Given the description of an element on the screen output the (x, y) to click on. 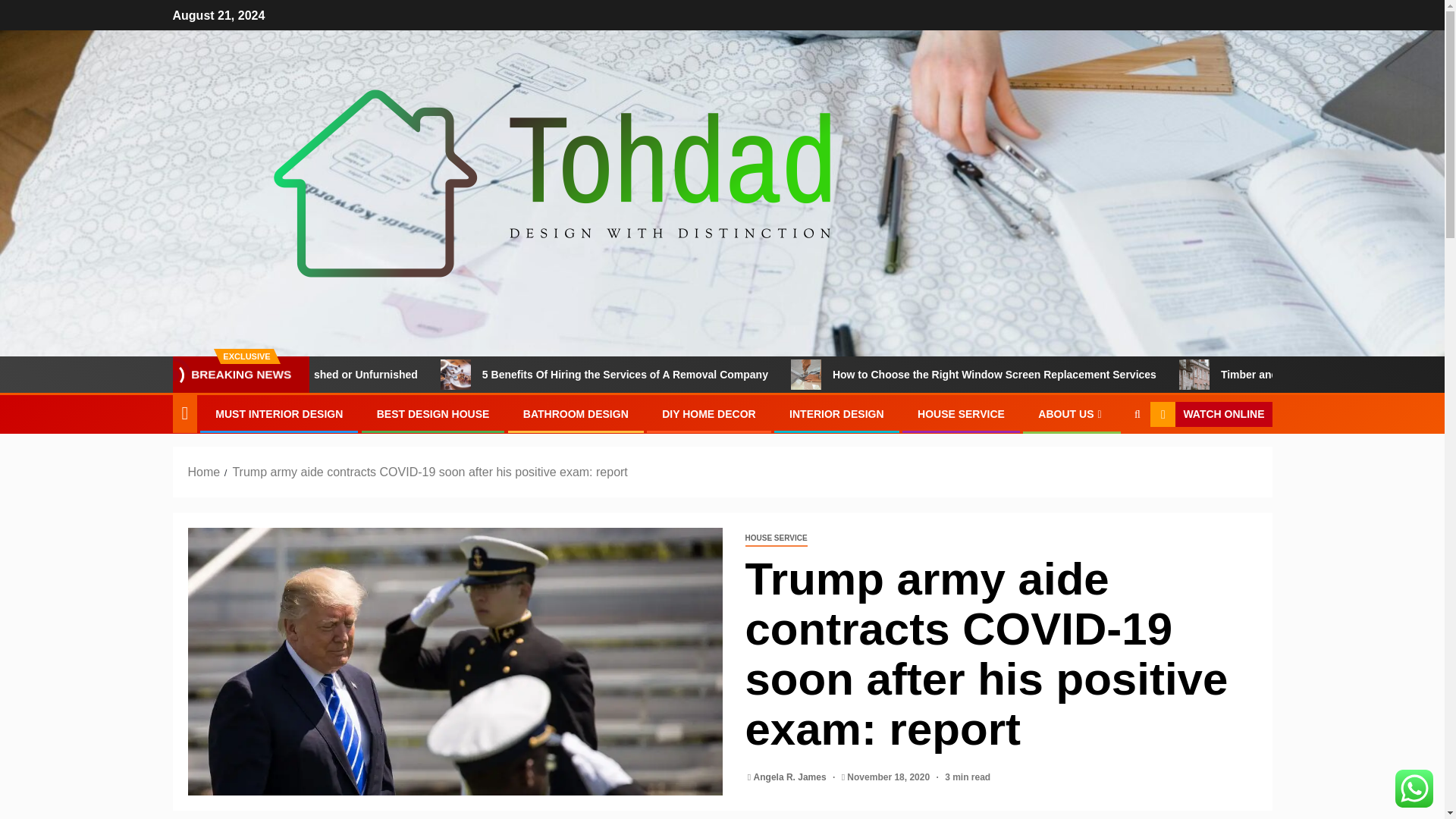
How to Choose the Right Window Screen Replacement Services (1156, 374)
ABOUT US (1071, 413)
5 Benefits Of Hiring the Services of A Removal Company (549, 374)
WATCH ONLINE (1210, 414)
Angela R. James (791, 777)
5 Benefits Of Hiring the Services of A Removal Company (787, 374)
Search (1107, 460)
BATHROOM DESIGN (575, 413)
Home (204, 472)
MUST INTERIOR DESIGN (278, 413)
